Given the description of an element on the screen output the (x, y) to click on. 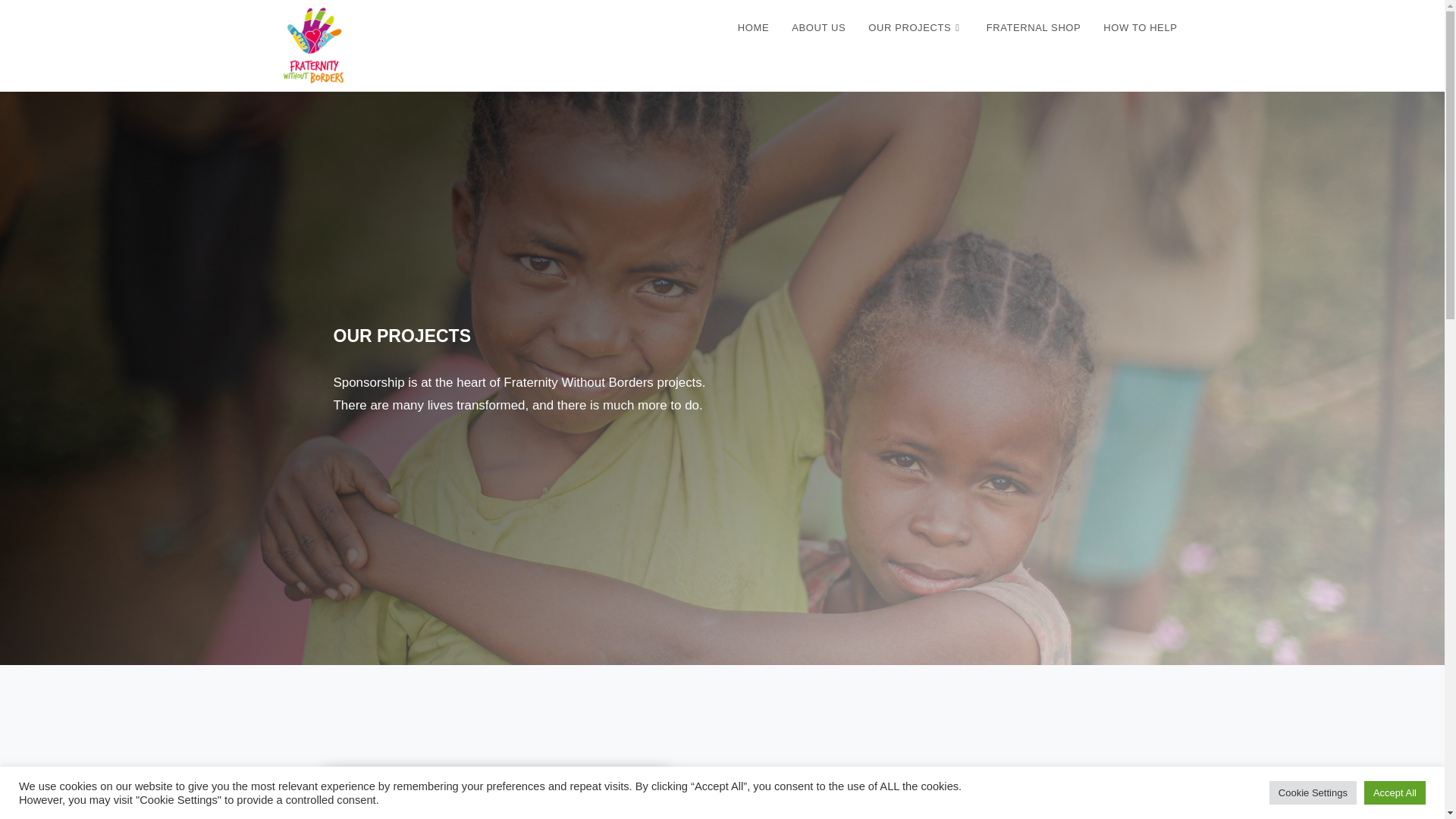
HOME (753, 28)
Accept All (1394, 792)
ABOUT US (818, 28)
HOW TO HELP (1140, 28)
OUR PROJECTS (915, 28)
FRATERNAL SHOP (1034, 28)
Cookie Settings (1312, 792)
